Given the description of an element on the screen output the (x, y) to click on. 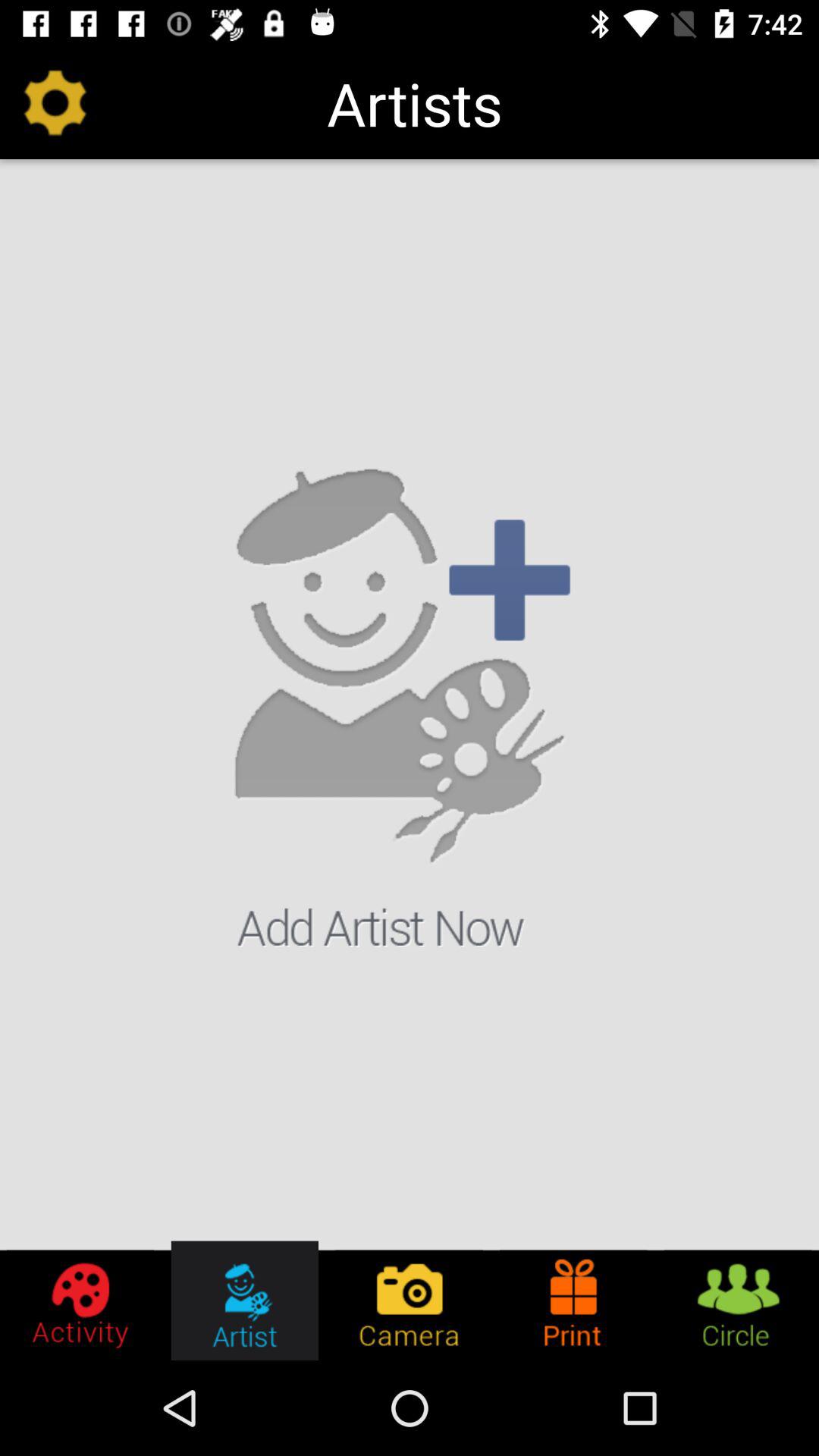
press the item at the top left corner (55, 103)
